Given the description of an element on the screen output the (x, y) to click on. 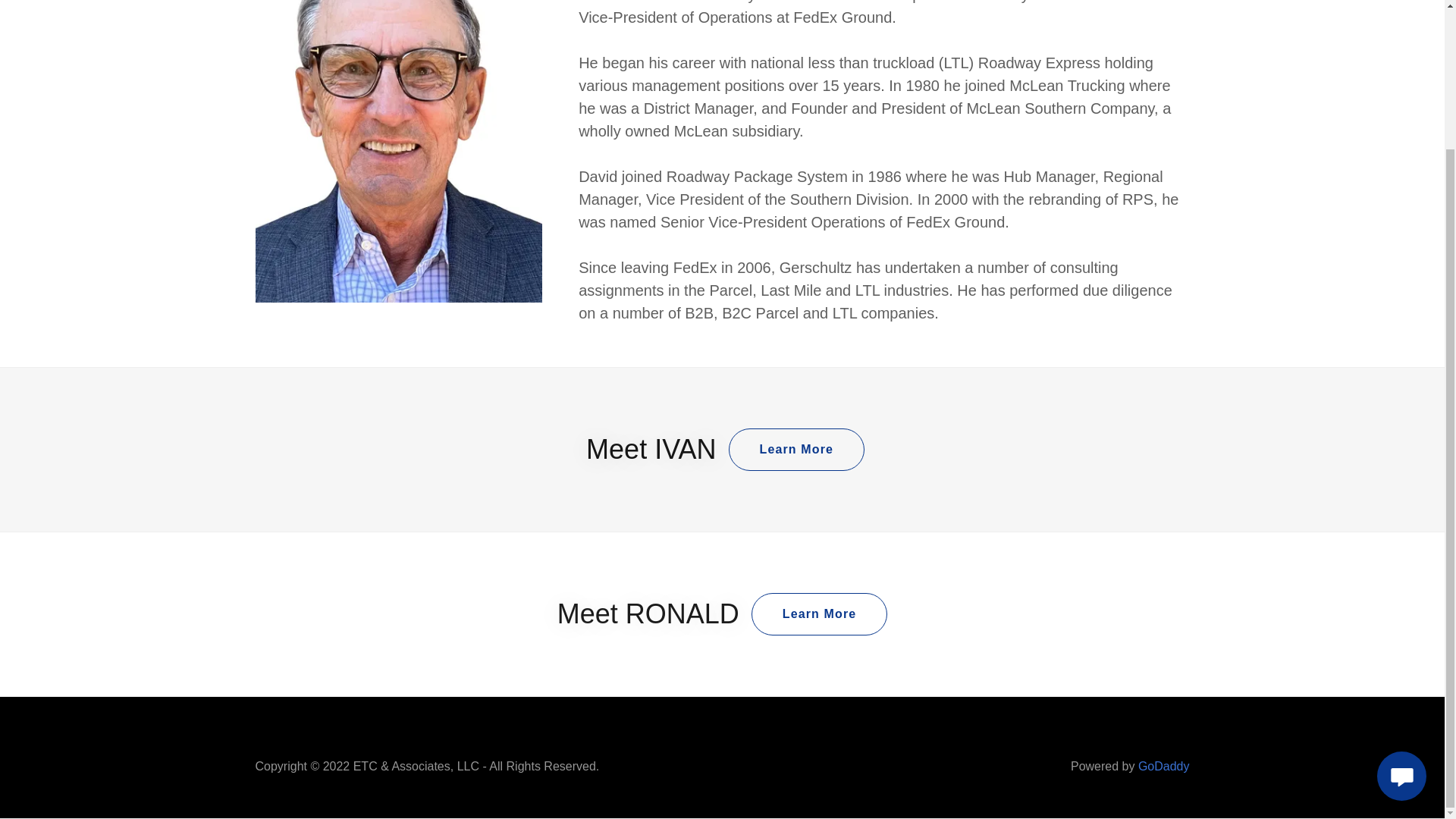
GoDaddy (1163, 766)
Learn More (796, 449)
Learn More (819, 613)
